Given the description of an element on the screen output the (x, y) to click on. 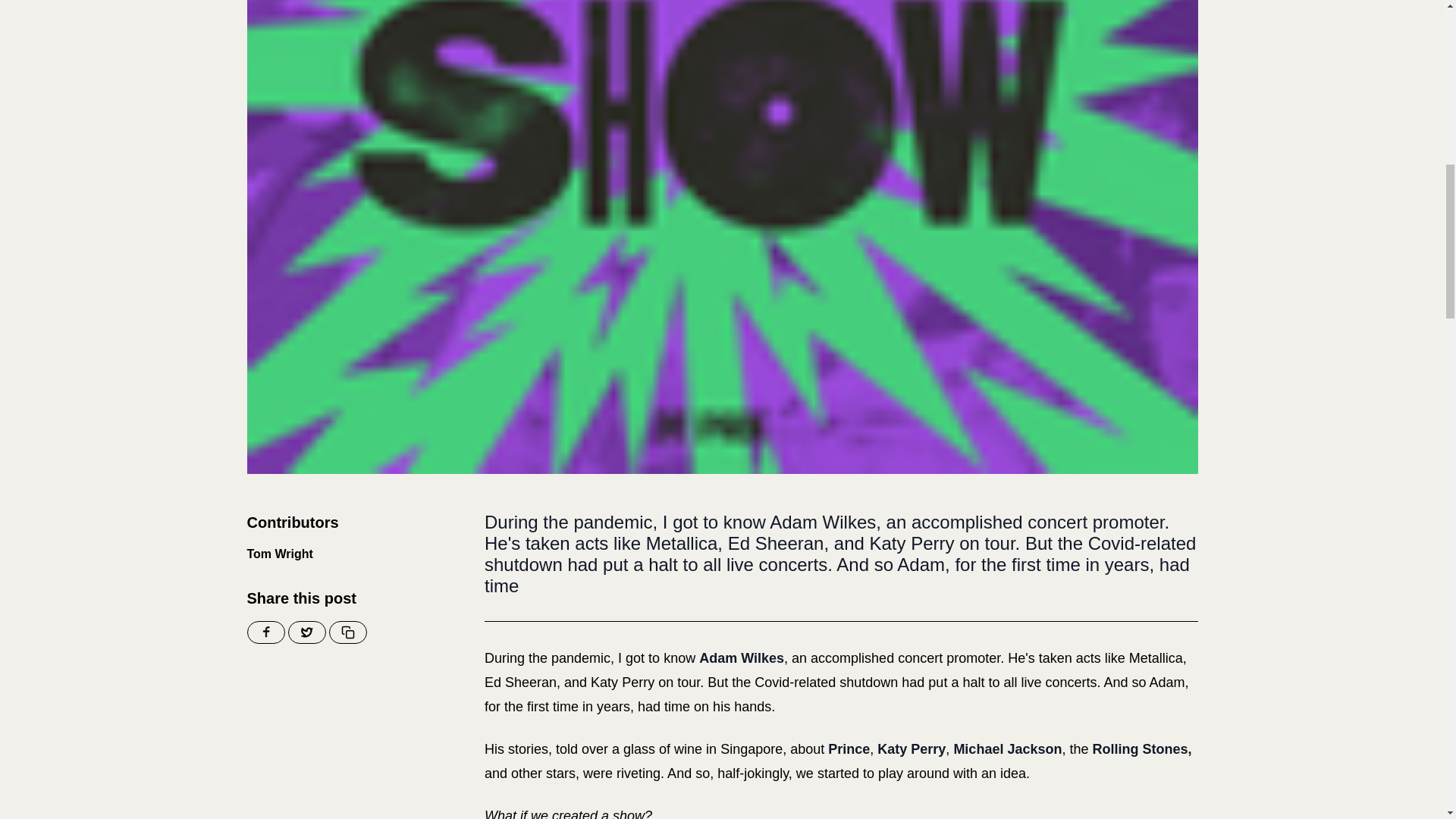
Share on Twitter (307, 631)
Tom Wright (280, 554)
Share on Facebook (266, 631)
